Given the description of an element on the screen output the (x, y) to click on. 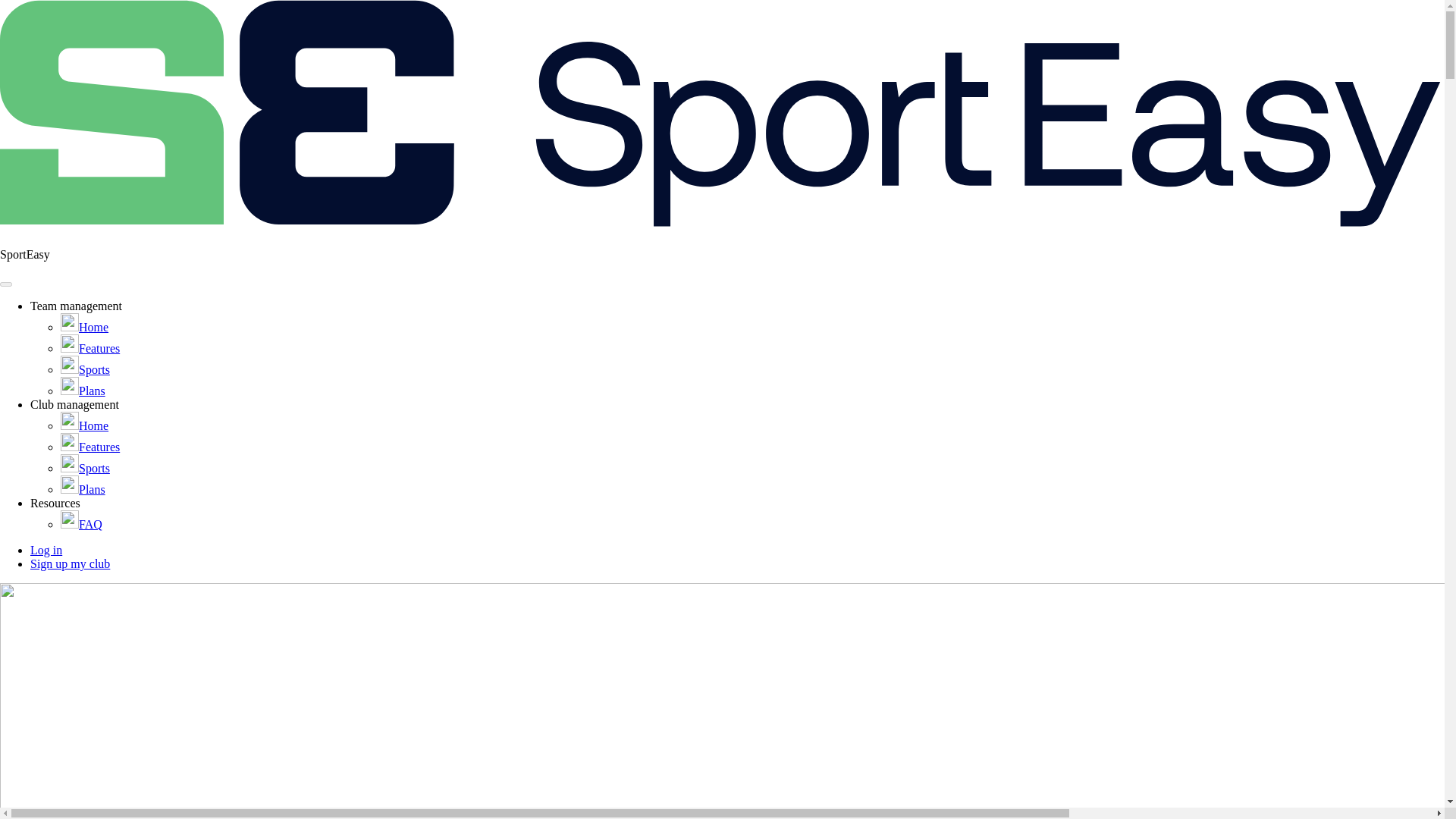
Sports (85, 468)
Plans (82, 489)
Sports (85, 369)
Plans (82, 390)
Home (84, 327)
Sign up my club (70, 563)
Log in (46, 549)
Home (84, 425)
FAQ (81, 523)
Features (90, 446)
